Given the description of an element on the screen output the (x, y) to click on. 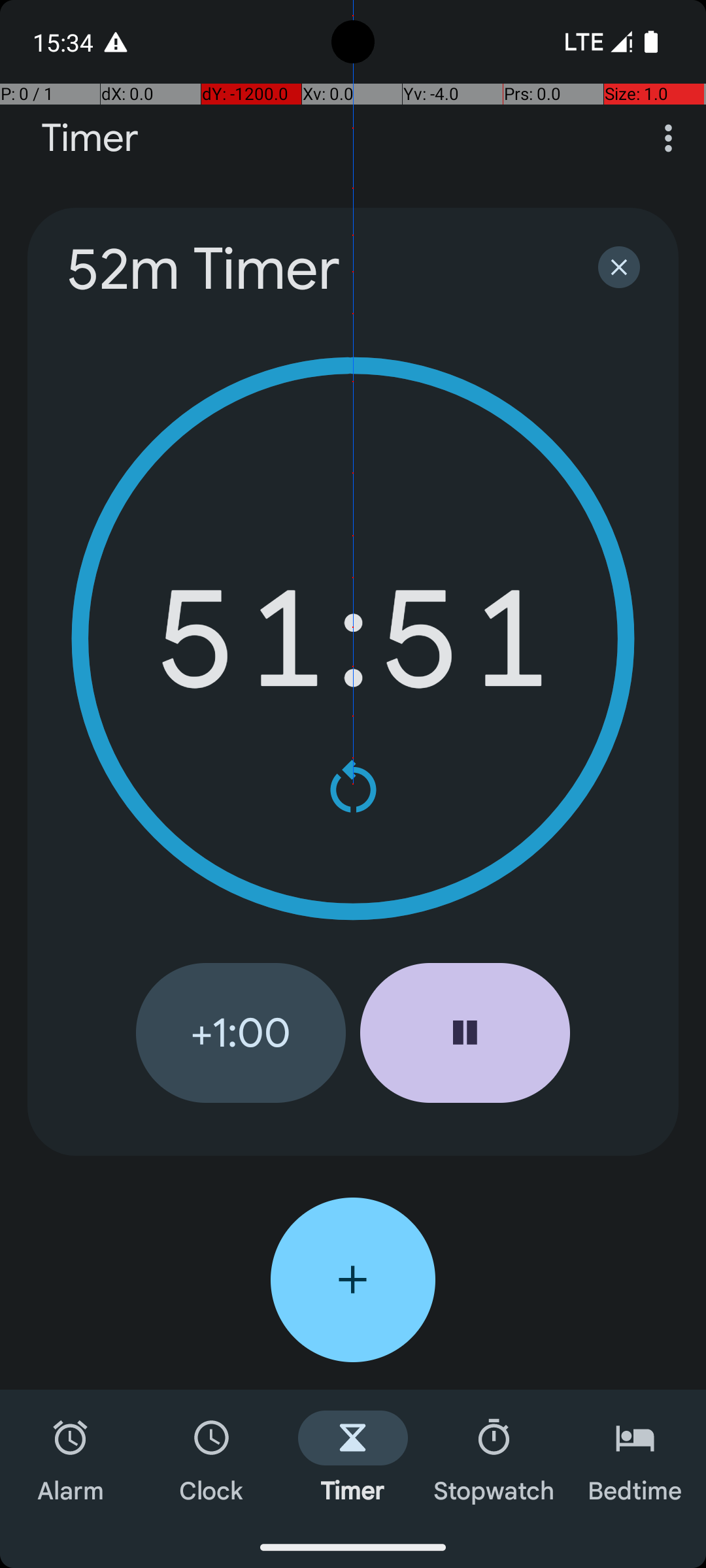
Add timer Element type: android.widget.Button (352, 1279)
52m Timer Element type: android.widget.TextView (315, 269)
51:51 Element type: android.widget.TextView (352, 638)
+1:00 Element type: android.widget.Button (240, 1032)
Pause Element type: android.widget.Button (465, 1032)
